Given the description of an element on the screen output the (x, y) to click on. 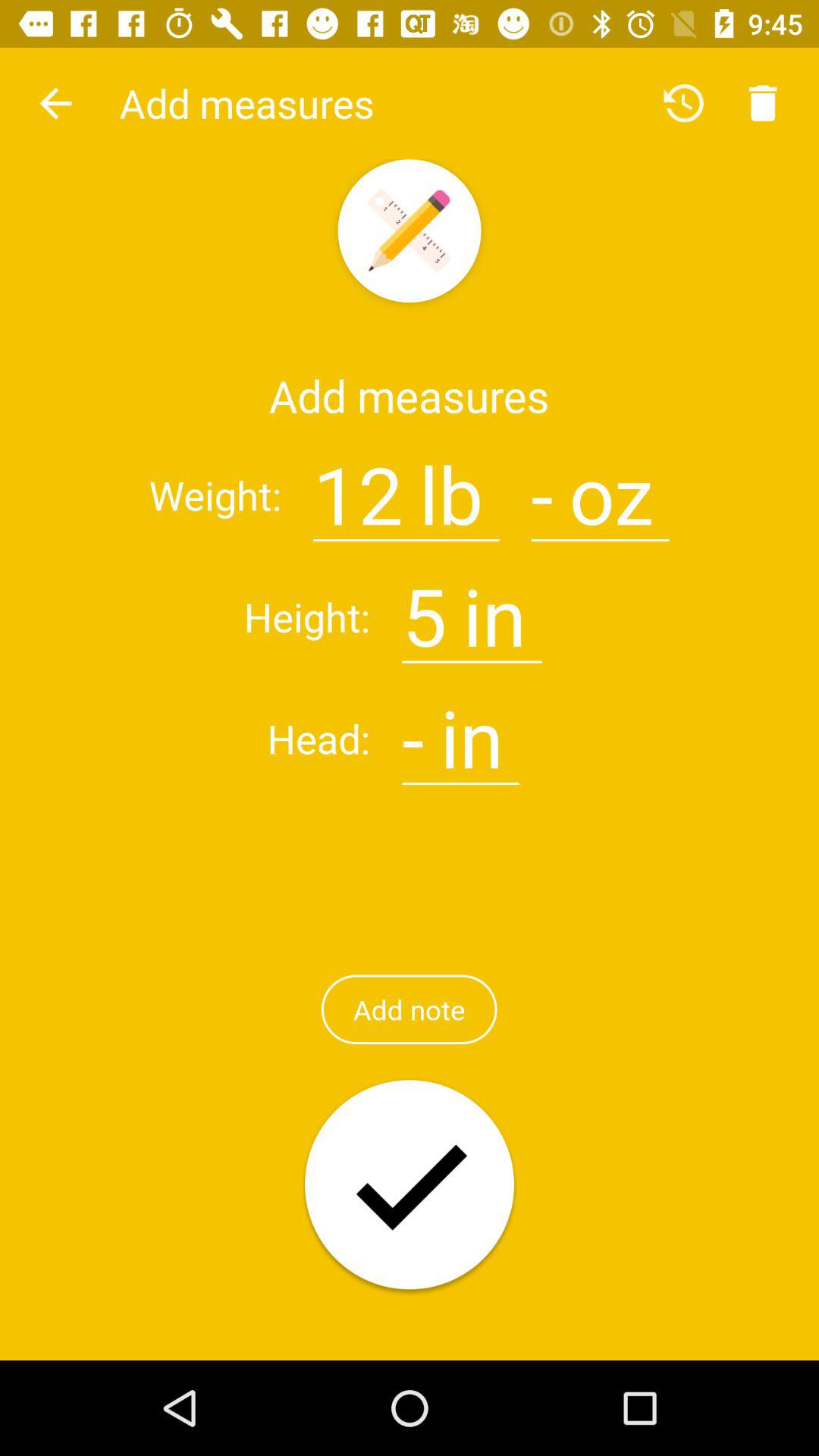
turn off item to the left of oz item (542, 485)
